Given the description of an element on the screen output the (x, y) to click on. 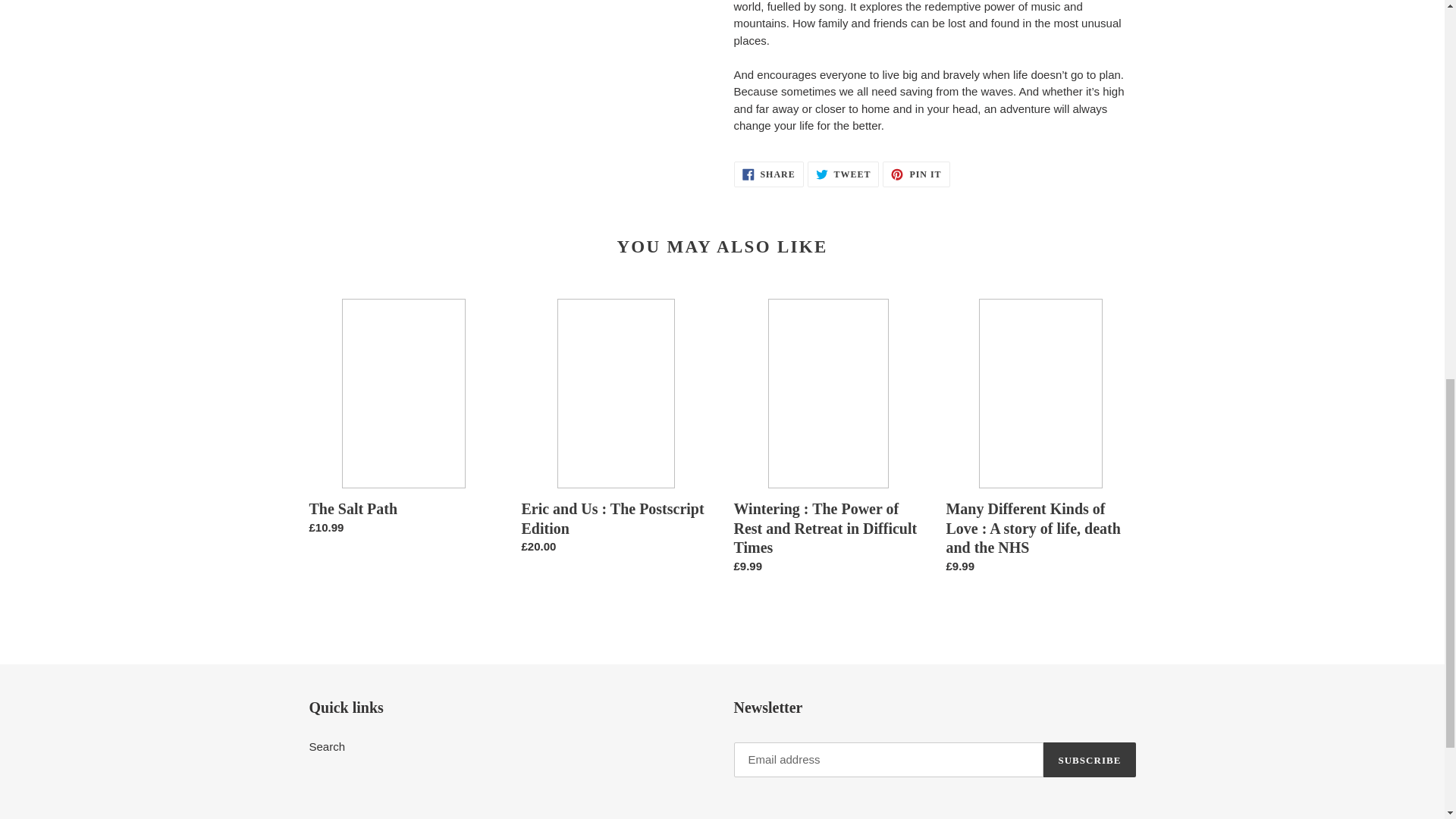
SUBSCRIBE (843, 174)
Search (768, 174)
